Given the description of an element on the screen output the (x, y) to click on. 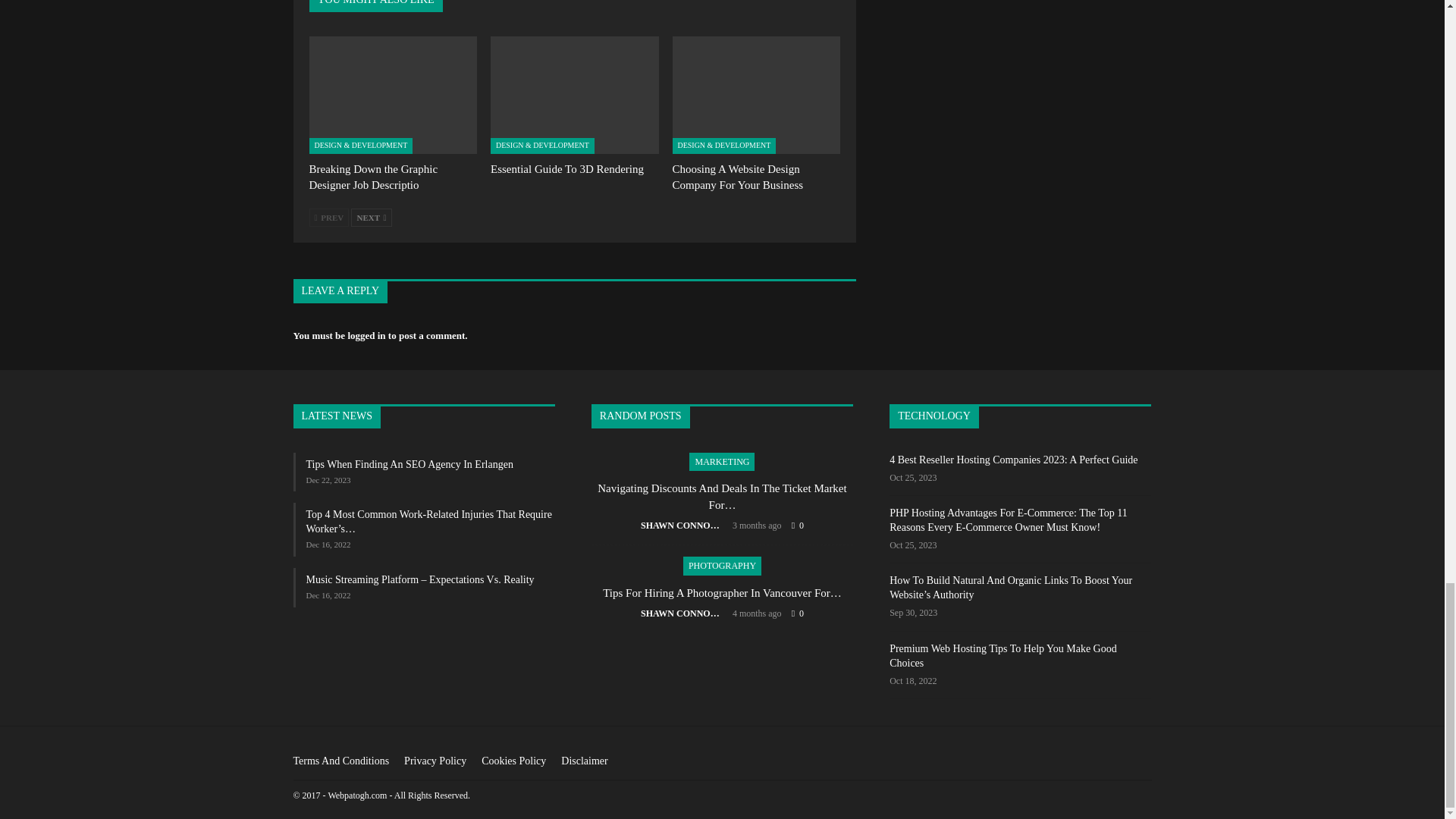
Essential Guide To 3D Rendering (574, 94)
Essential Guide To 3D Rendering (566, 168)
Breaking Down the Graphic Designer Job Descriptio (373, 176)
Breaking Down the Graphic Designer Job Descriptio (392, 94)
